Given the description of an element on the screen output the (x, y) to click on. 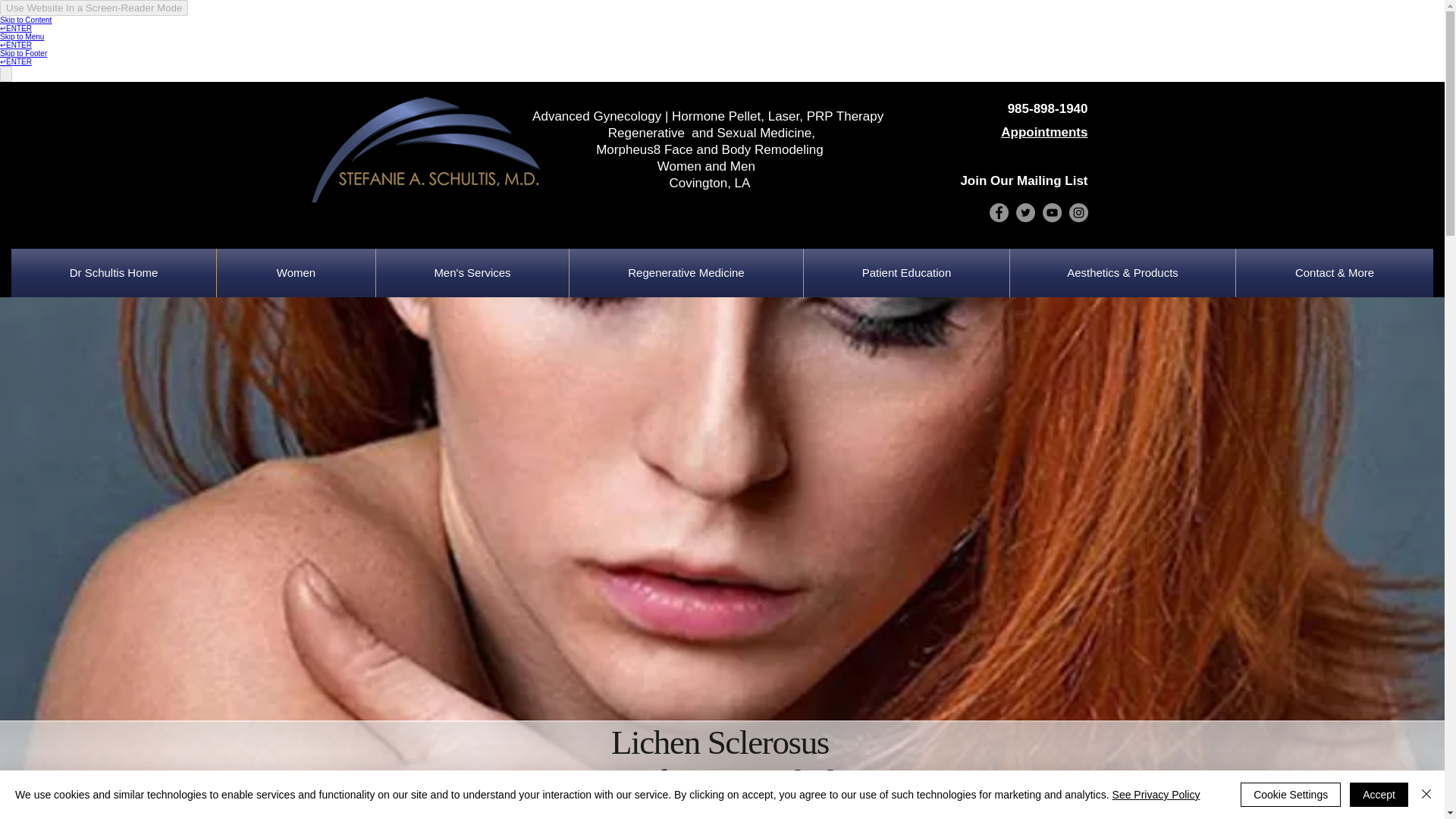
Dr Schultis Home (113, 272)
Men's Services (472, 272)
Join Our Mailing List (1023, 180)
985-898-1940 (1047, 108)
Appointments (1044, 132)
